Given the description of an element on the screen output the (x, y) to click on. 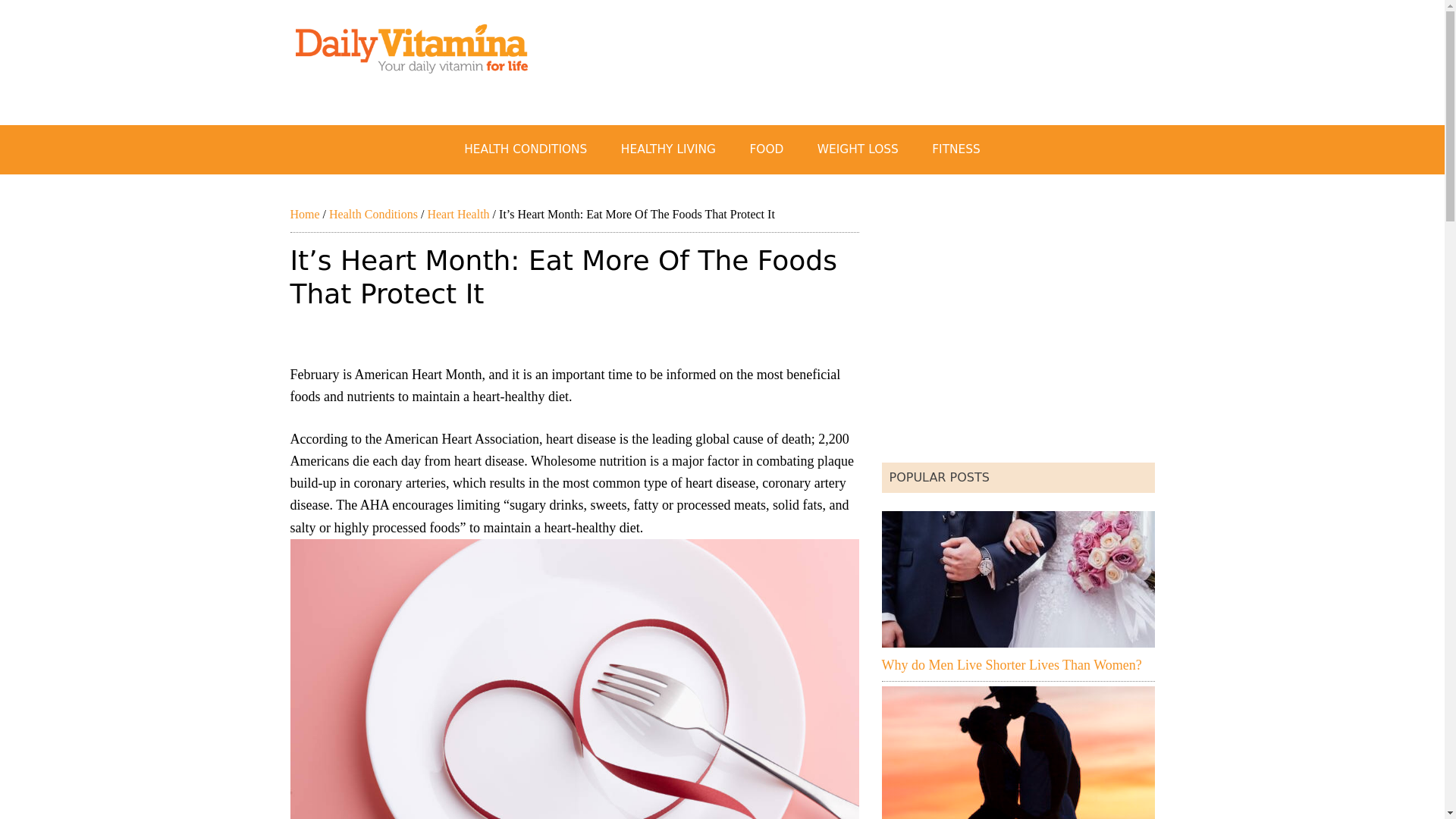
HEALTH CONDITIONS (525, 149)
FOOD (765, 149)
Home (303, 214)
FITNESS (956, 149)
WEIGHT LOSS (858, 149)
Why do Men Live Shorter Lives Than Women? (1010, 664)
Heart Health (457, 214)
HEALTHY LIVING (667, 149)
Why do Men Live Shorter Lives Than Women? (1017, 579)
Health Conditions (373, 214)
10 Tips to Stay Healthy And in Love (1017, 752)
